Given the description of an element on the screen output the (x, y) to click on. 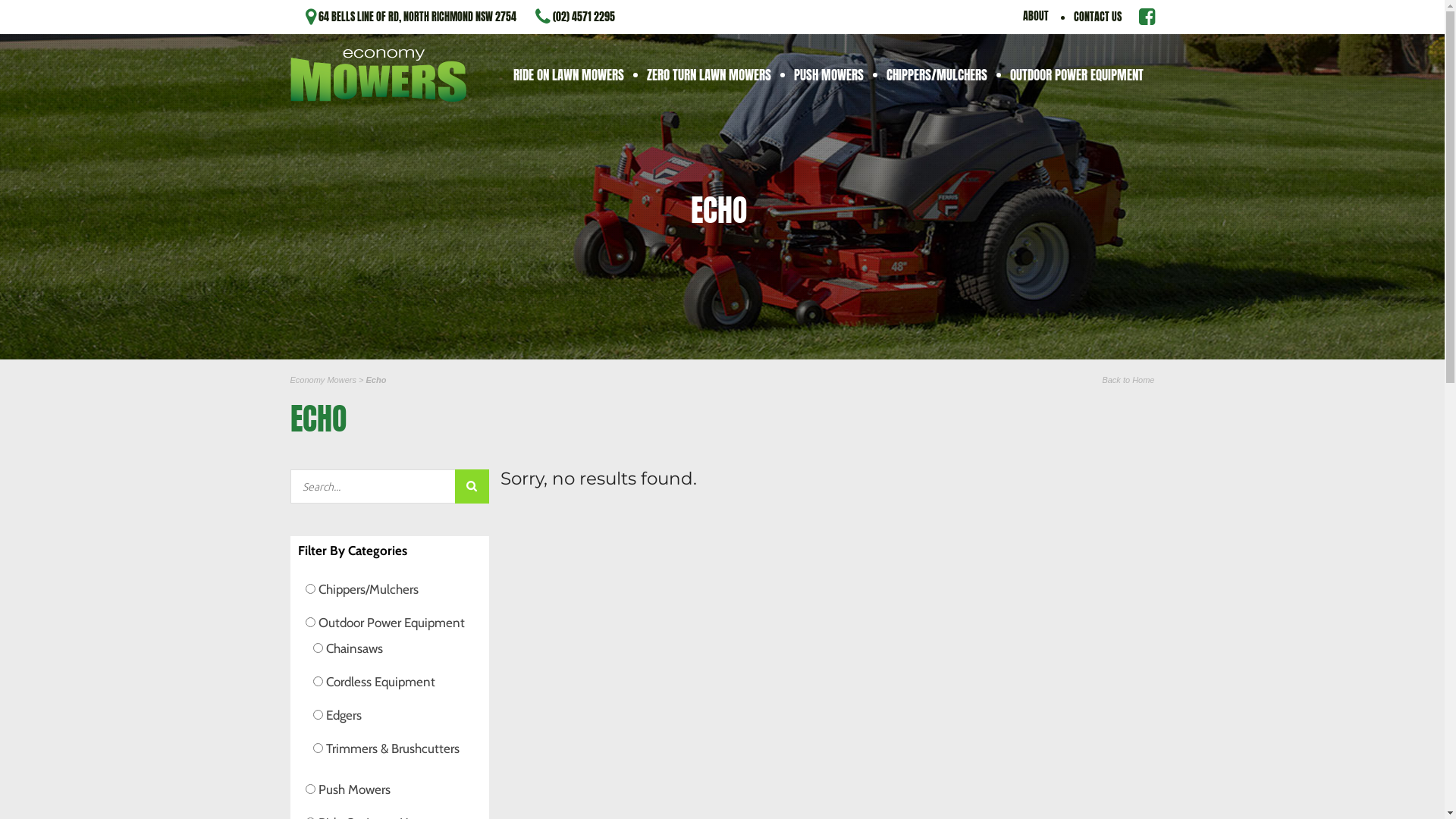
Economy Mowers Element type: hover (377, 76)
OUTDOOR POWER EQUIPMENT Element type: text (1075, 73)
CONTACT US Element type: text (1097, 17)
Search Element type: text (472, 486)
CHIPPERS/MULCHERS Element type: text (936, 73)
Echo Element type: text (375, 379)
ACCT 3103 Element type: text (562, 139)
ABOUT Element type: text (1035, 16)
Economy Mowers Element type: text (322, 379)
PUSH MOWERS Element type: text (828, 73)
ZERO TURN LAWN MOWERS Element type: text (708, 73)
RIDE ON LAWN MOWERS Element type: text (568, 73)
Back to Home Element type: text (1127, 379)
